Given the description of an element on the screen output the (x, y) to click on. 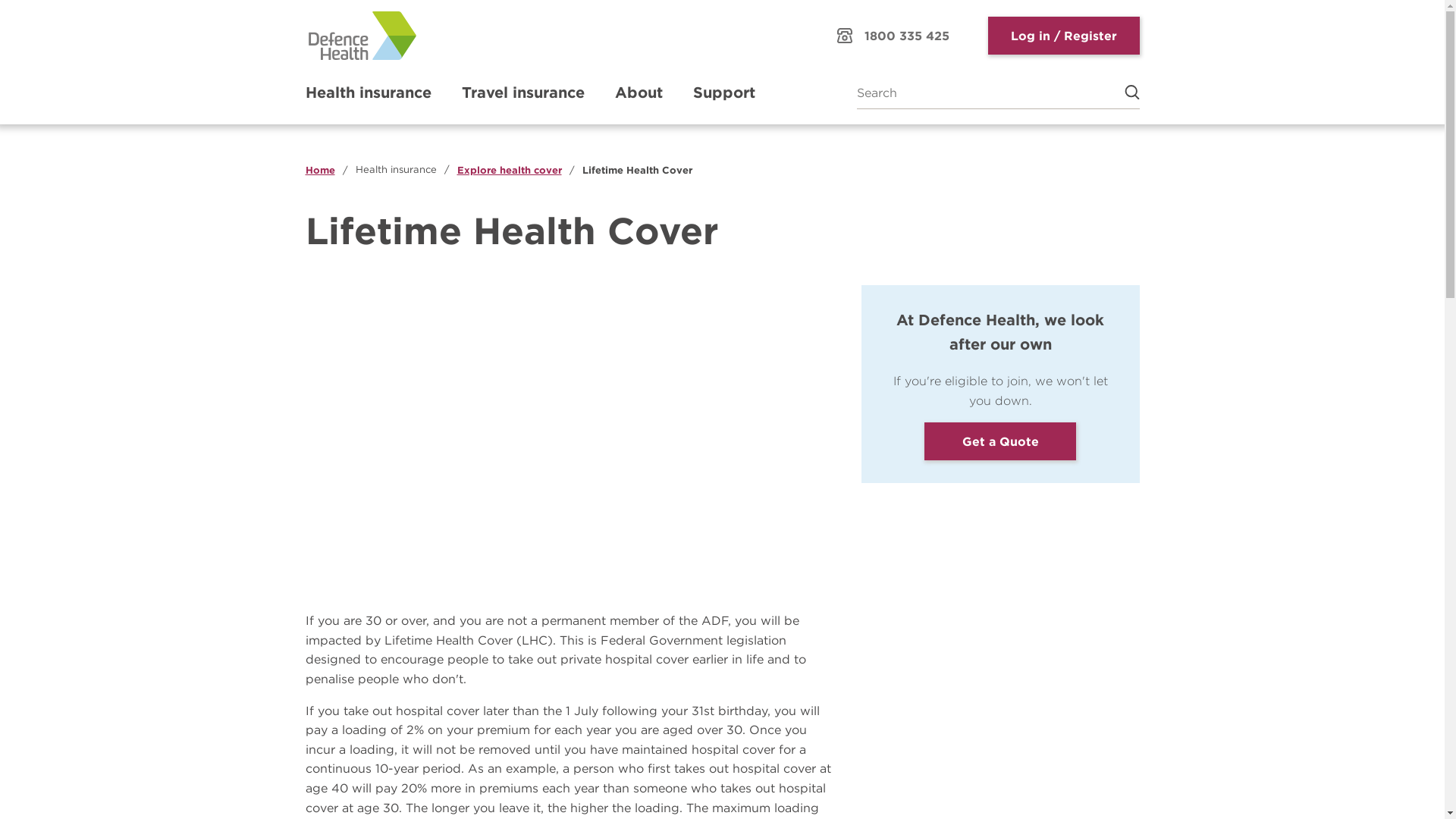
Explore health cover Element type: text (508, 169)
Log in / Register Element type: text (1063, 35)
Health insurance Element type: text (367, 92)
Understanding Lifetime Health Cover Loading Element type: hover (567, 432)
search Element type: text (1123, 92)
Home Element type: text (319, 169)
About Element type: text (638, 92)
Lifetime Health Cover Element type: text (637, 169)
Support Element type: text (724, 92)
1800 335 425 Element type: text (893, 35)
Travel insurance Element type: text (522, 92)
Get a Quote Element type: text (1000, 441)
Health insurance Element type: text (395, 169)
